Given the description of an element on the screen output the (x, y) to click on. 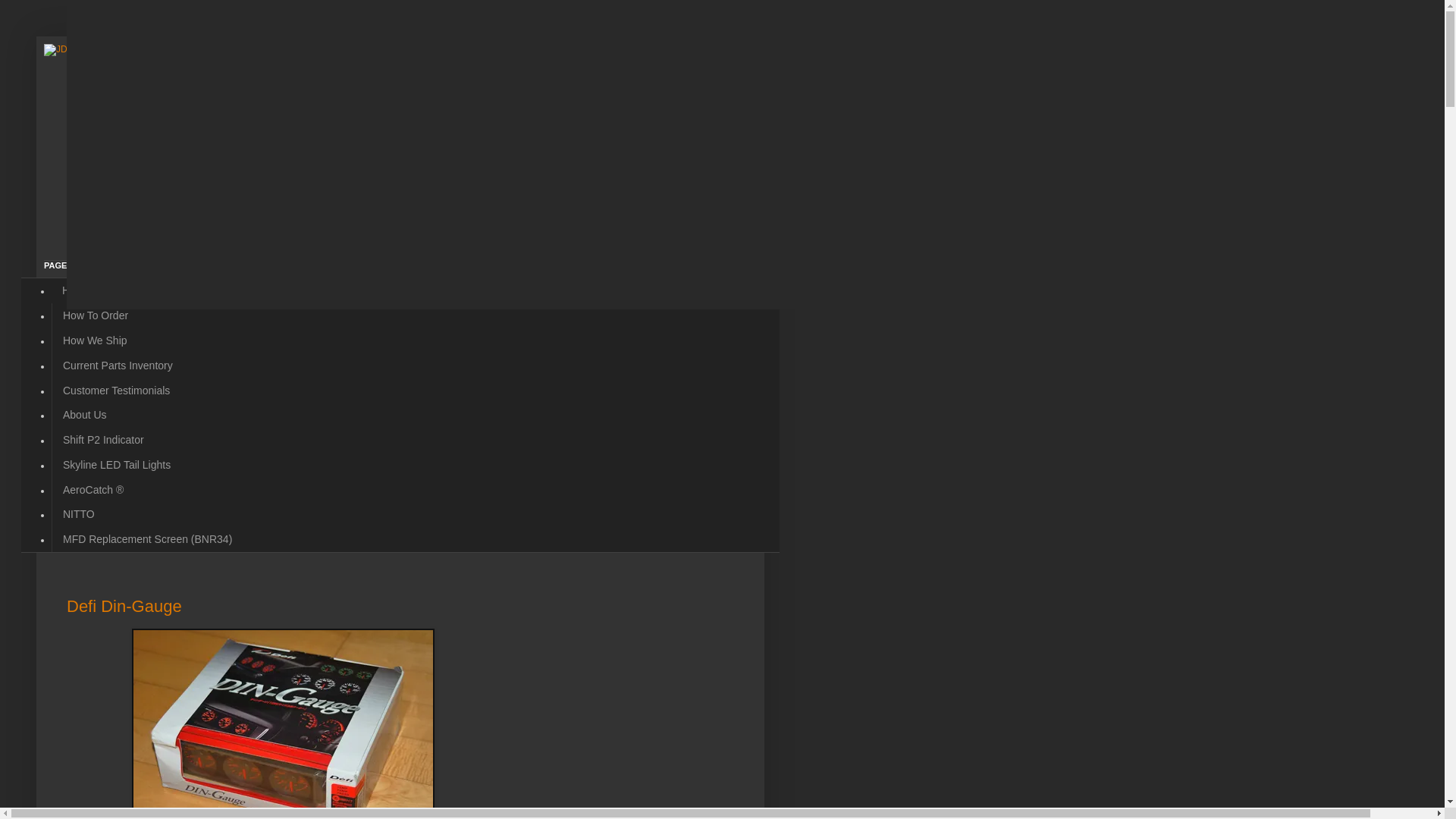
Home (75, 290)
Shift P2 Indicator (102, 439)
About Us (83, 414)
Current Parts Inventory (116, 364)
NITTO (77, 514)
Customer Testimonials (115, 389)
Skyline LED Tail Lights (115, 464)
How We Ship (94, 340)
Defi Din-Gauge (124, 606)
How To Order (94, 315)
